Given the description of an element on the screen output the (x, y) to click on. 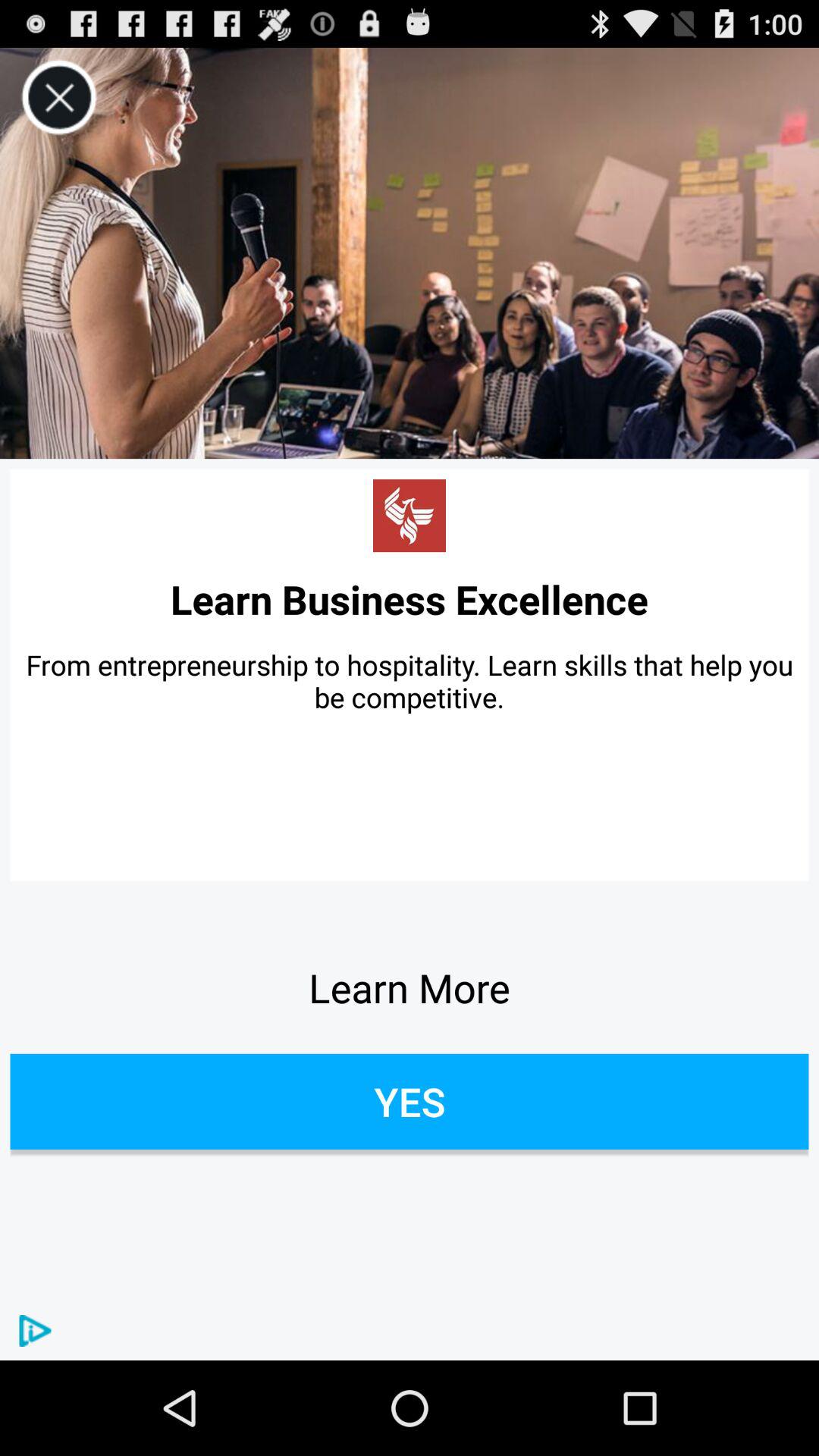
select the item at the top left corner (59, 97)
